Given the description of an element on the screen output the (x, y) to click on. 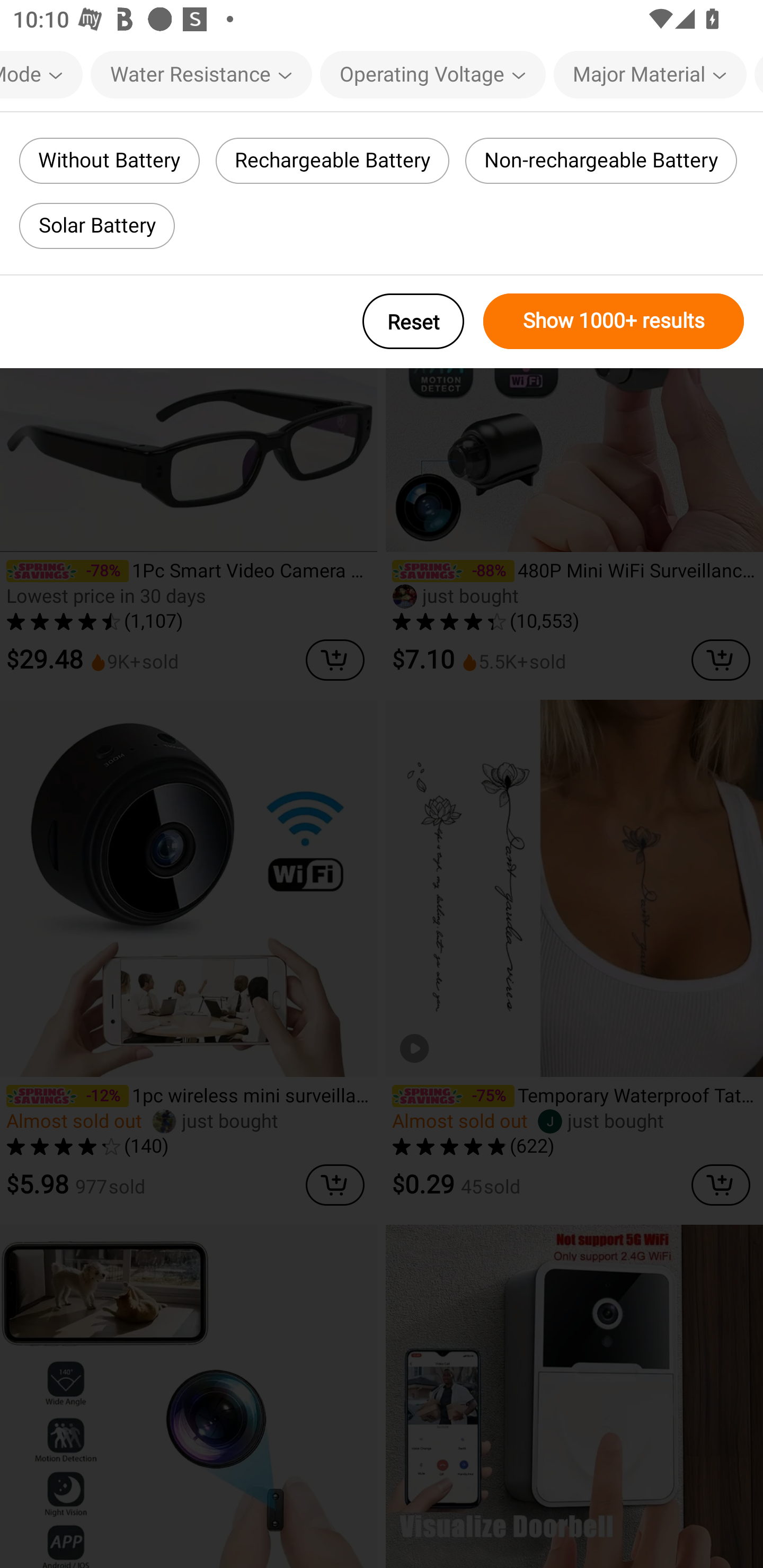
Power Mode (41, 74)
Water Resistance (201, 74)
Operating Voltage (432, 74)
Major Material (649, 74)
Without Battery (109, 160)
Rechargeable Battery (332, 160)
Non-rechargeable Battery (601, 160)
Solar Battery (96, 225)
Reset (412, 321)
Show 1000+ results (612, 321)
